Given the description of an element on the screen output the (x, y) to click on. 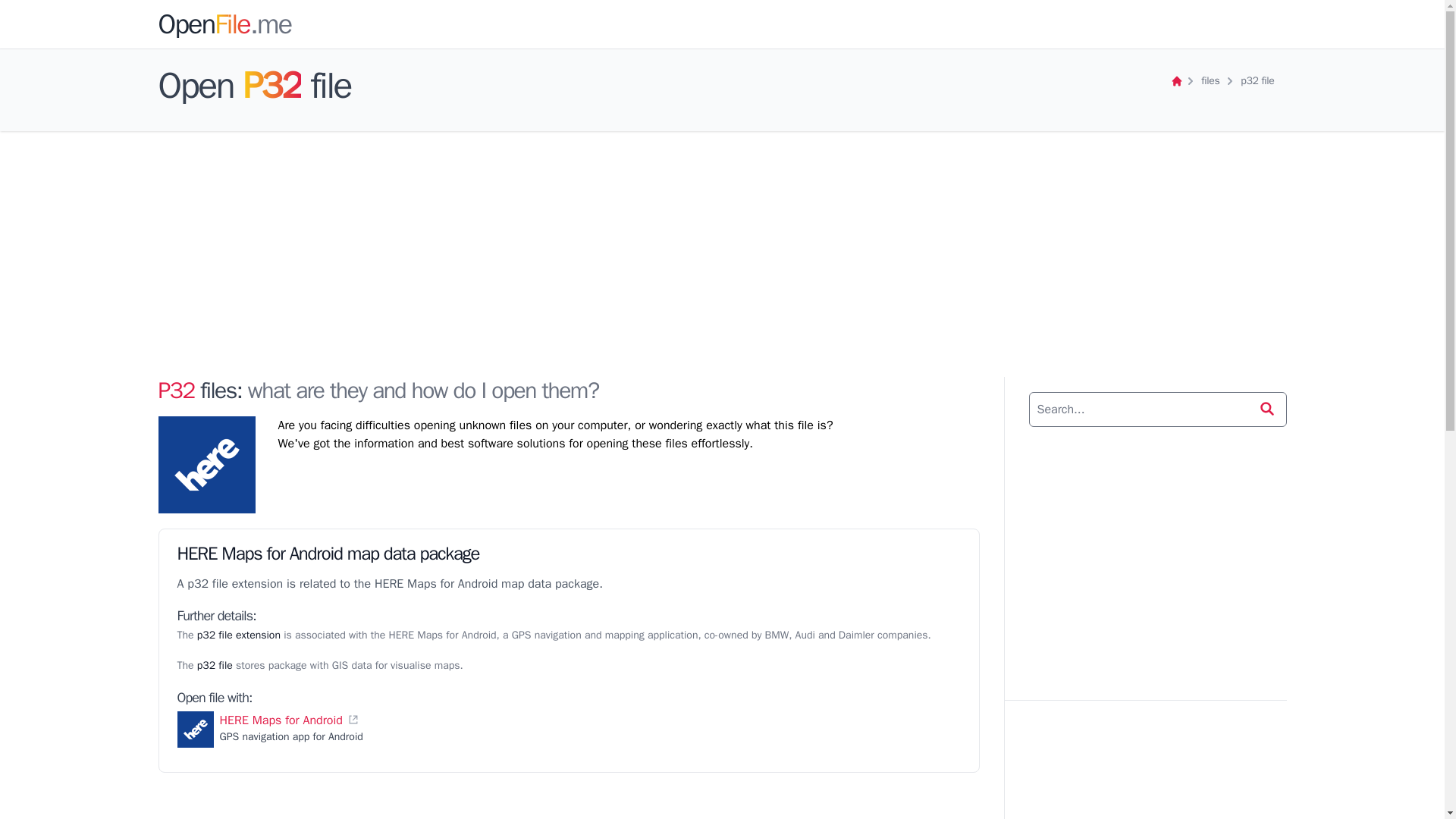
OpenFile.me (224, 24)
Advertisement (1156, 557)
Advertisement (567, 801)
HERE Maps for Android (280, 720)
Back to OpenFile.me homepage (1176, 80)
